Given the description of an element on the screen output the (x, y) to click on. 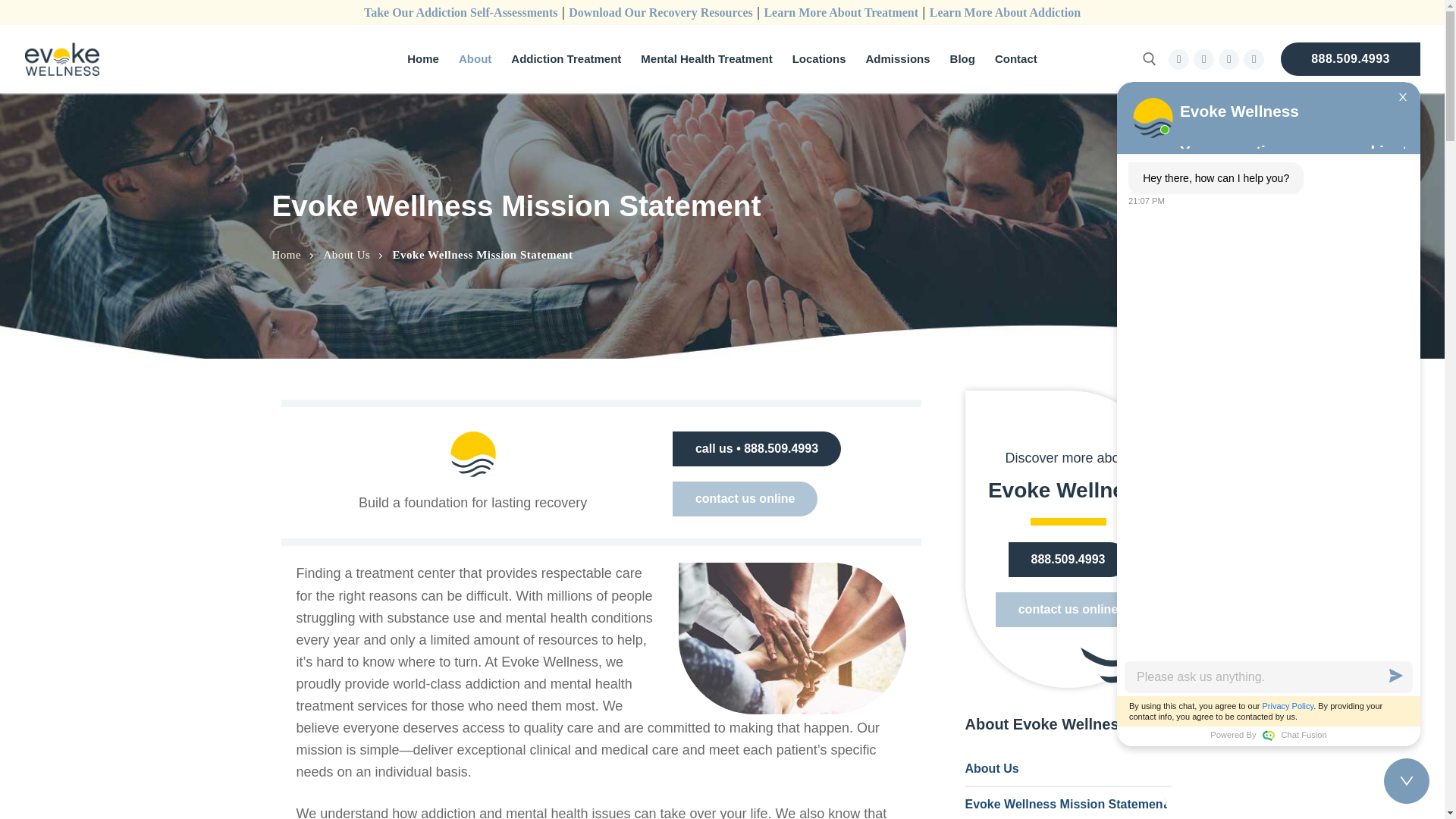
Admissions (898, 58)
Mental Health Treatment (705, 58)
Addiction Treatment (565, 58)
Locations (819, 58)
Blog (962, 58)
Download Our Recovery Resources (660, 11)
Instagram (1253, 59)
Twitter (1228, 59)
Learn More About Addiction (1005, 11)
About (474, 58)
Take Our Addiction Self-Assessments (460, 11)
LinkedIn (1203, 59)
Learn More About Treatment (840, 11)
Contact (1015, 58)
Facebook (1179, 59)
